Given the description of an element on the screen output the (x, y) to click on. 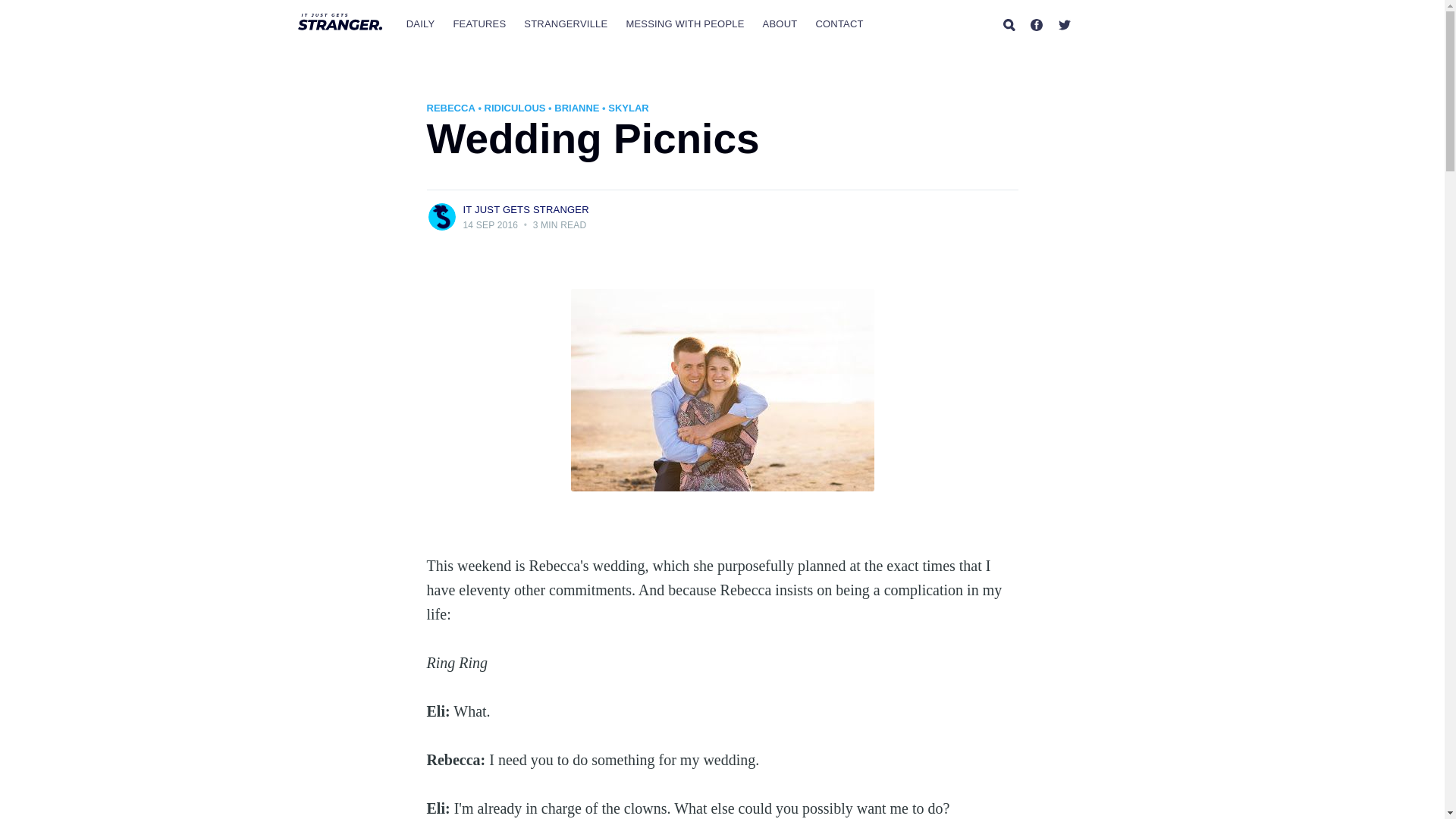
DAILY (420, 24)
Brianne (576, 108)
STRANGERVILLE (565, 24)
CONTACT (839, 24)
ABOUT (780, 24)
IT JUST GETS STRANGER (525, 209)
FEATURES (479, 24)
RIDICULOUS (515, 108)
Ridiculous (515, 108)
Skylar (627, 108)
